Given the description of an element on the screen output the (x, y) to click on. 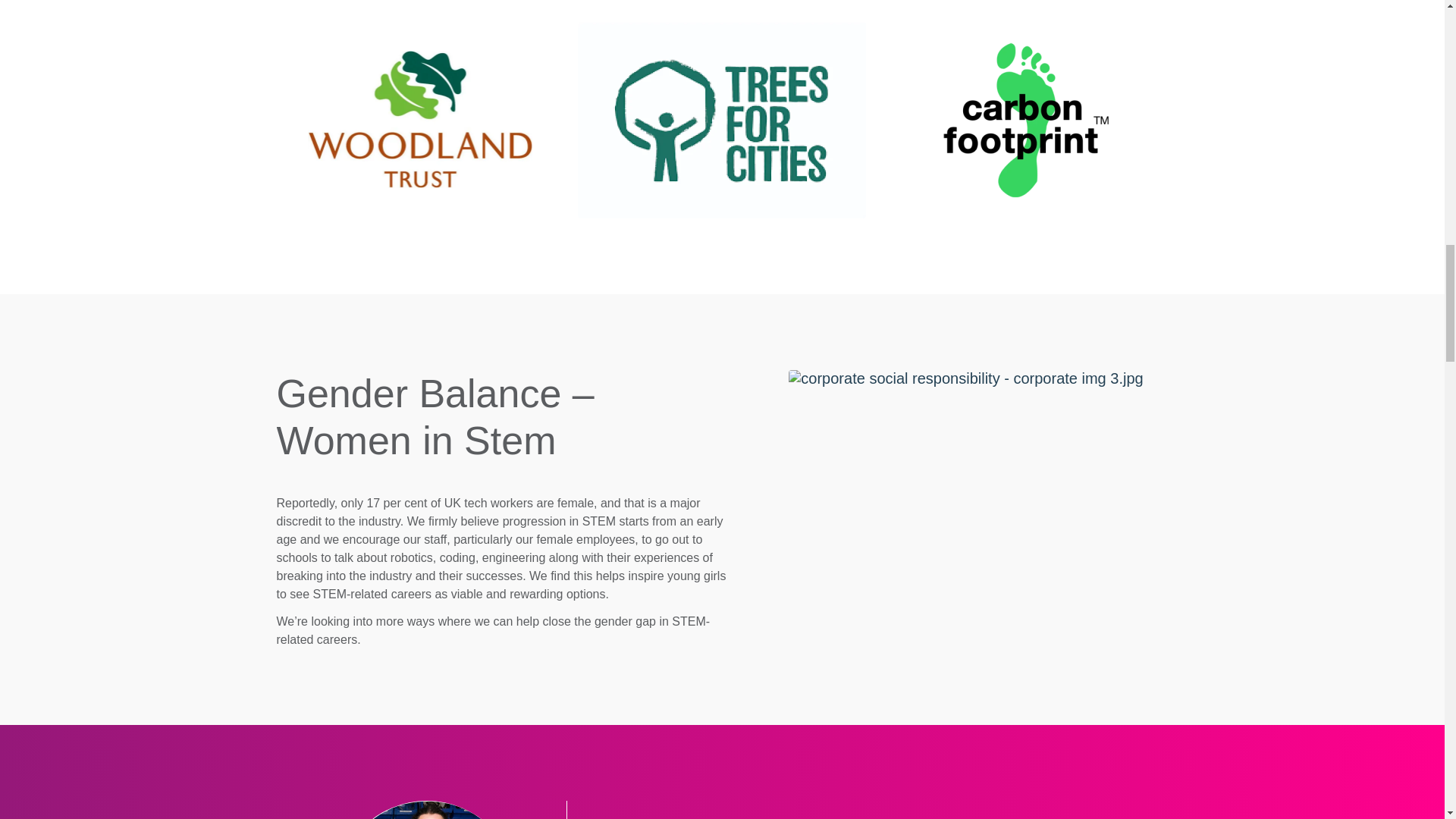
Trees For Cities logo (722, 119)
Woodland Trust logo (420, 119)
Shadow Robot female team members seated at a lunch table (965, 378)
Carbon Footprint logo (1023, 119)
